Given the description of an element on the screen output the (x, y) to click on. 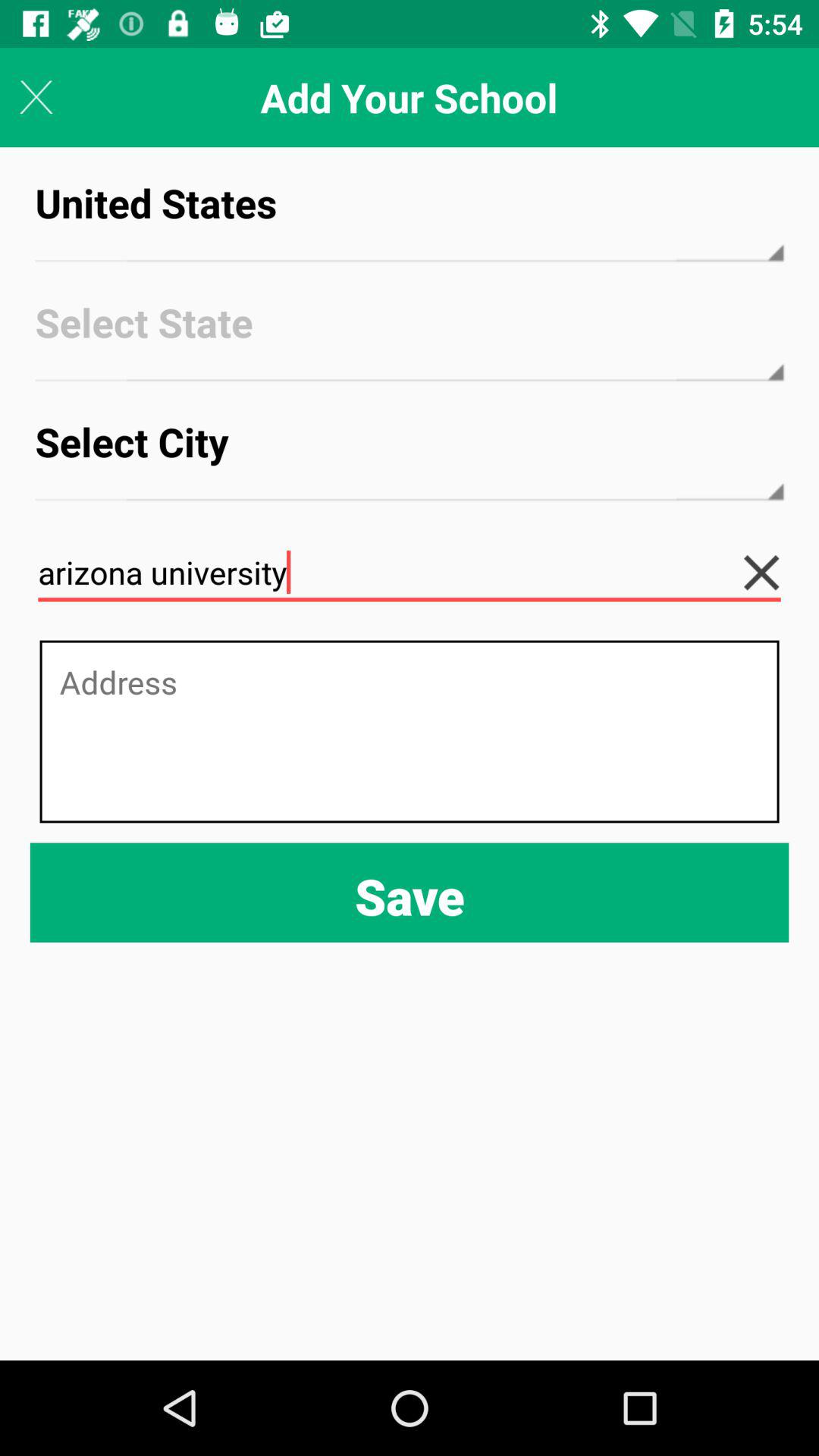
select the item below arizona university icon (409, 731)
